Given the description of an element on the screen output the (x, y) to click on. 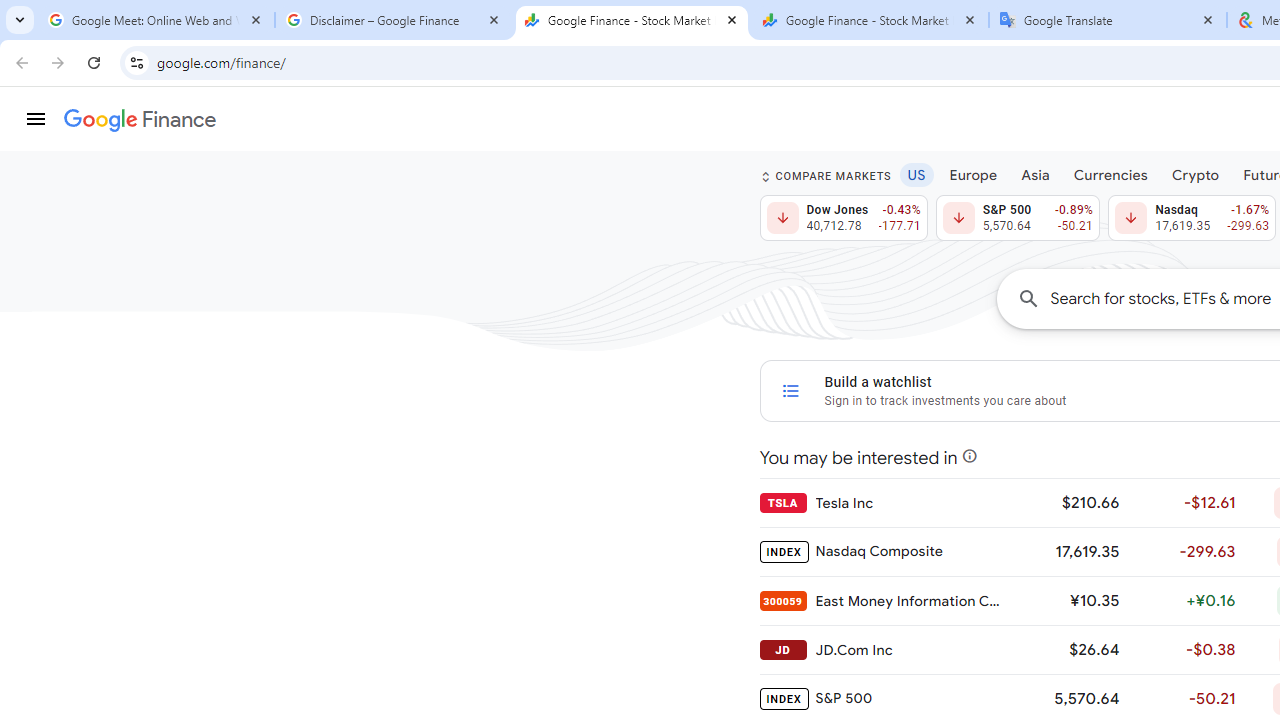
Nasdaq 17,619.35 Down by 1.67% -299.63 (1192, 218)
Asia (1035, 174)
Dow Jones 40,712.78 Down by 0.43% -177.71 (843, 218)
